Given the description of an element on the screen output the (x, y) to click on. 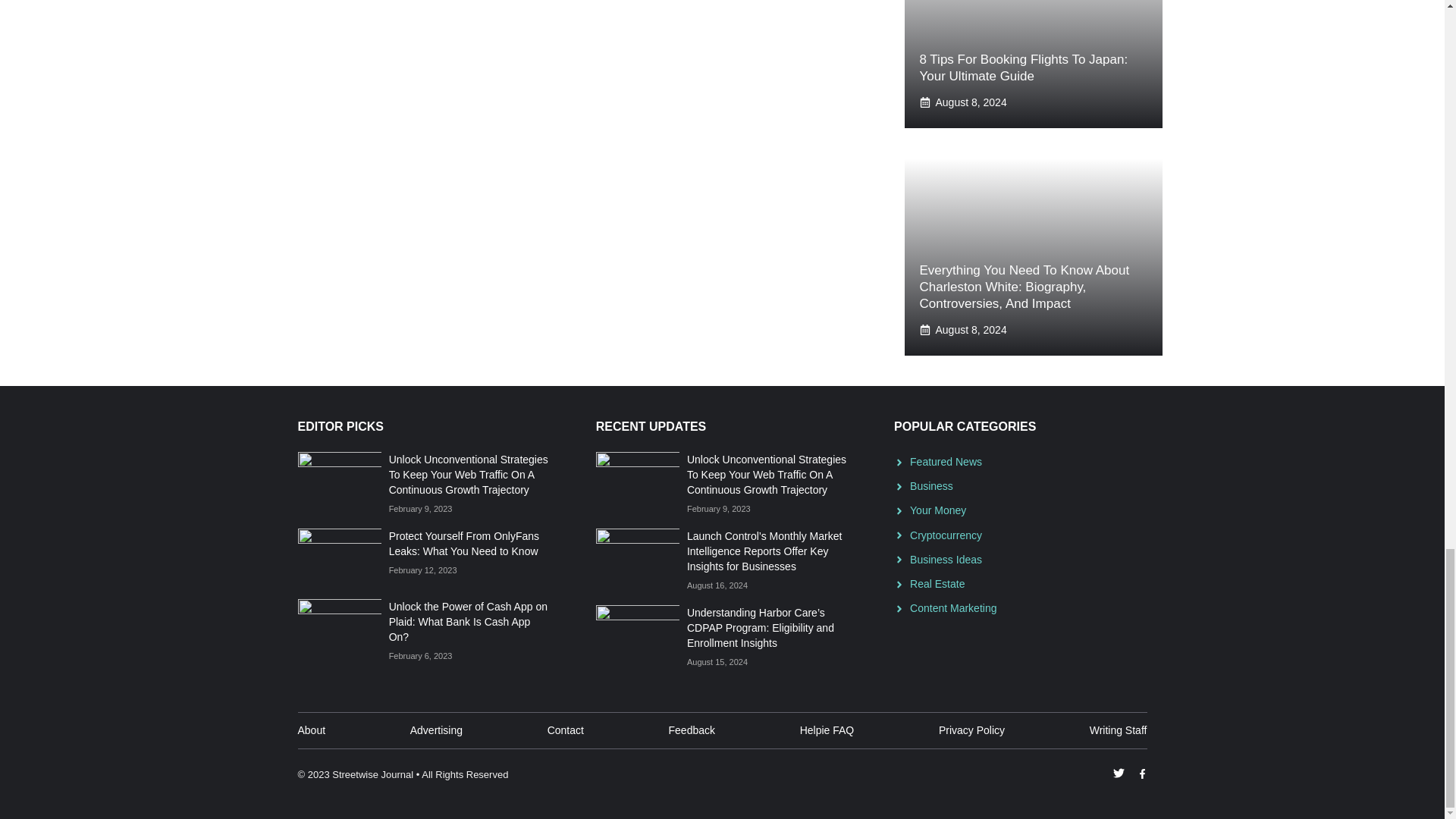
Featured News (945, 461)
Business (931, 485)
Protect Yourself From OnlyFans Leaks: What You Need to Know (463, 543)
8 Tips For Booking Flights To Japan: Your Ultimate Guide (1022, 67)
